Given the description of an element on the screen output the (x, y) to click on. 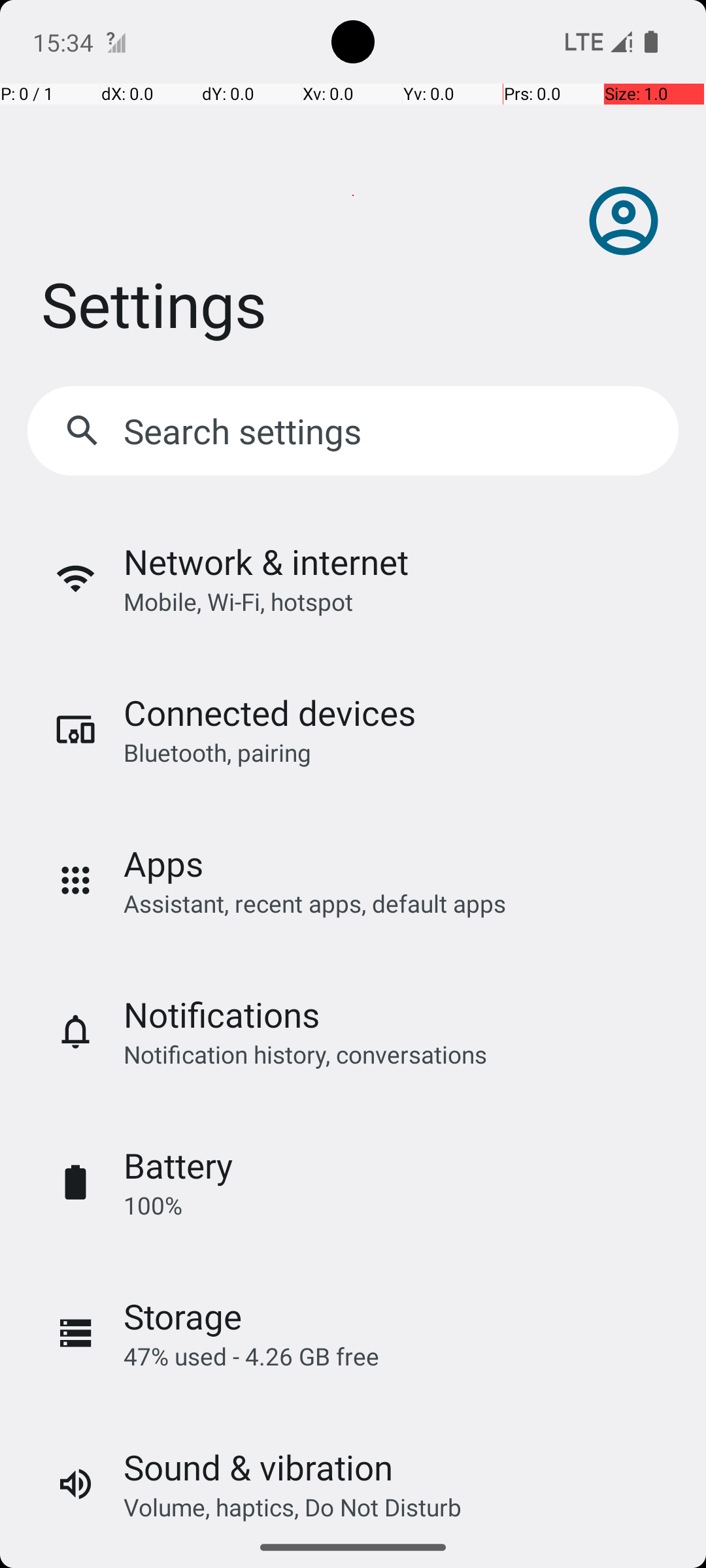
47% used - 4.26 GB free Element type: android.widget.TextView (251, 1355)
